Given the description of an element on the screen output the (x, y) to click on. 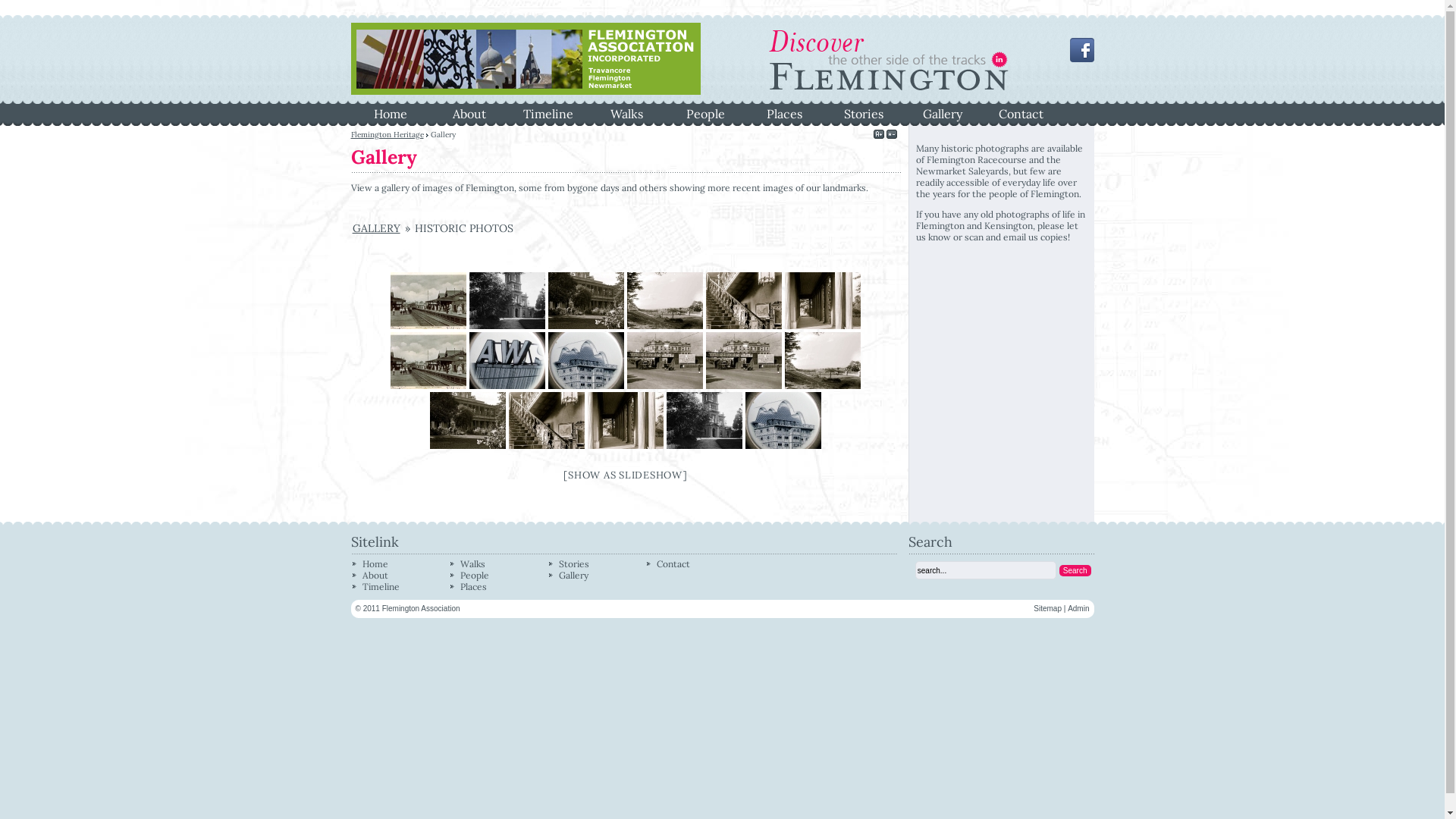
Travancore Mansion Element type: hover (507, 300)
HW15.1 Element type: hover (704, 420)
Flemington Heritage Element type: text (386, 134)
HW7.2 Element type: hover (743, 360)
Stories Element type: text (573, 563)
12800-p0003-000020-040 Element type: hover (664, 360)
IMG_5076 Element type: hover (586, 360)
Increase font size Element type: hover (878, 135)
Stories Element type: text (862, 112)
GALLERY Element type: text (376, 228)
TravMansion2_2 Element type: hover (822, 300)
TravMansion4 Element type: hover (664, 300)
[SHOW AS SLIDESHOW] Element type: text (625, 474)
HW15.3 Element type: hover (546, 420)
TravMansion3 Element type: hover (743, 300)
Home Element type: text (389, 112)
Contact Element type: text (1020, 112)
HW8.3 Element type: hover (428, 300)
Places Element type: text (784, 112)
Contact Element type: text (673, 563)
People Element type: text (705, 112)
Timeline Element type: text (548, 112)
HW15.4 Element type: hover (467, 420)
Walks Element type: text (626, 112)
Flemington Heritage Association Element type: hover (524, 91)
Follow us on Facebook Element type: hover (1081, 58)
About Element type: text (375, 574)
TravMansion5 Element type: hover (586, 300)
Timeline Element type: text (380, 586)
Home Element type: text (375, 563)
New Image Element type: hover (428, 360)
HW14.1 Element type: hover (783, 420)
Walks Element type: text (472, 563)
Sitemap Element type: text (1047, 608)
Places Element type: text (473, 586)
Search Element type: text (1075, 570)
Gallery Element type: text (573, 574)
Gallery Element type: text (941, 112)
People Element type: text (474, 574)
Gallery Element type: text (383, 156)
About Element type: text (468, 112)
Decrease font size Element type: hover (890, 135)
HW15.2 Element type: hover (625, 420)
IMG_5077 Element type: hover (507, 360)
Admin Element type: text (1077, 608)
HW18.2 Element type: hover (822, 360)
